Given the description of an element on the screen output the (x, y) to click on. 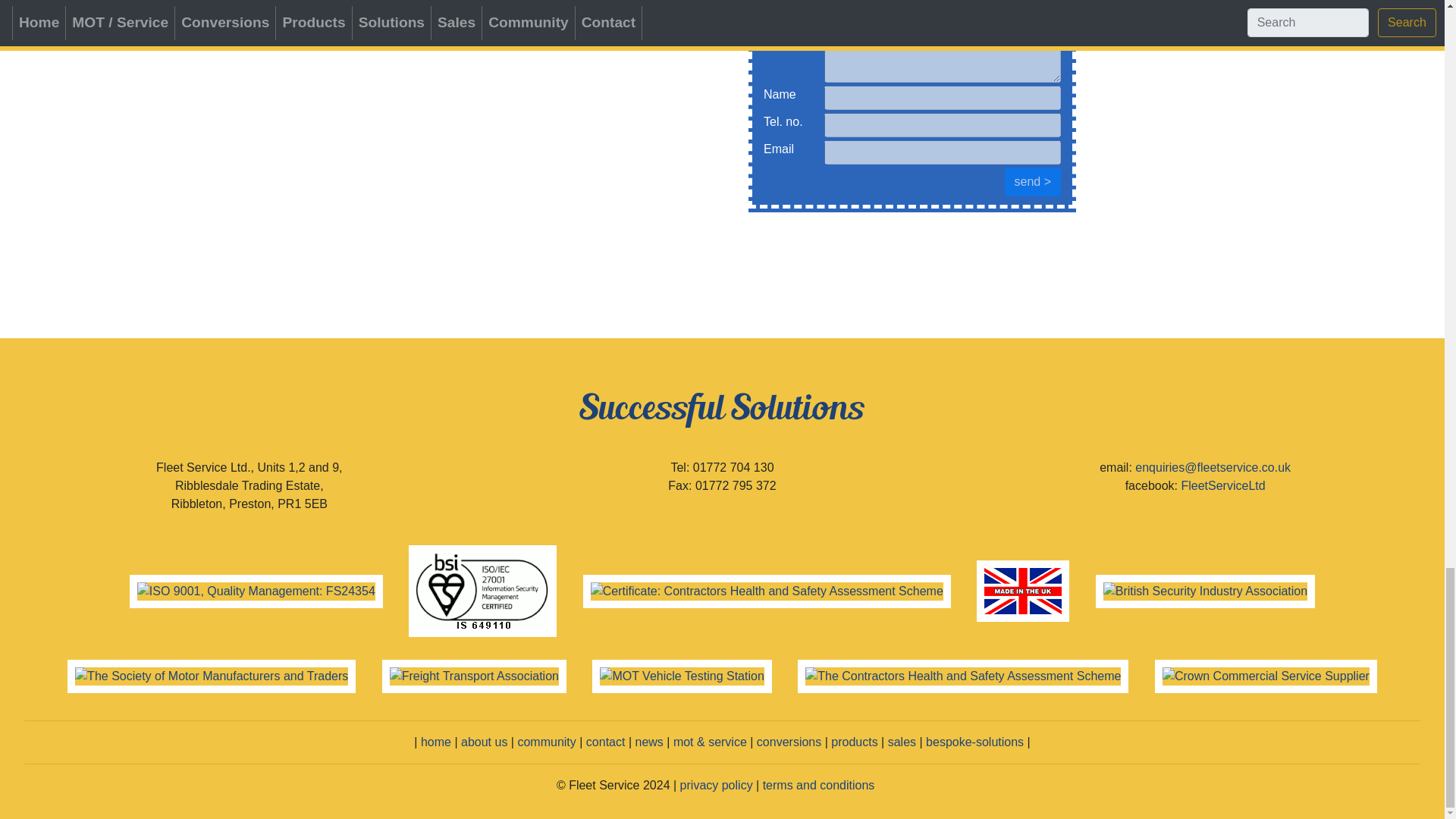
community (545, 741)
news (648, 741)
terms and conditions (818, 784)
home (435, 741)
conversions (789, 741)
privacy policy (715, 784)
contact (606, 741)
sales (901, 741)
products (854, 741)
bespoke-solutions (974, 741)
about us (483, 741)
FleetServiceLtd (1222, 485)
